Given the description of an element on the screen output the (x, y) to click on. 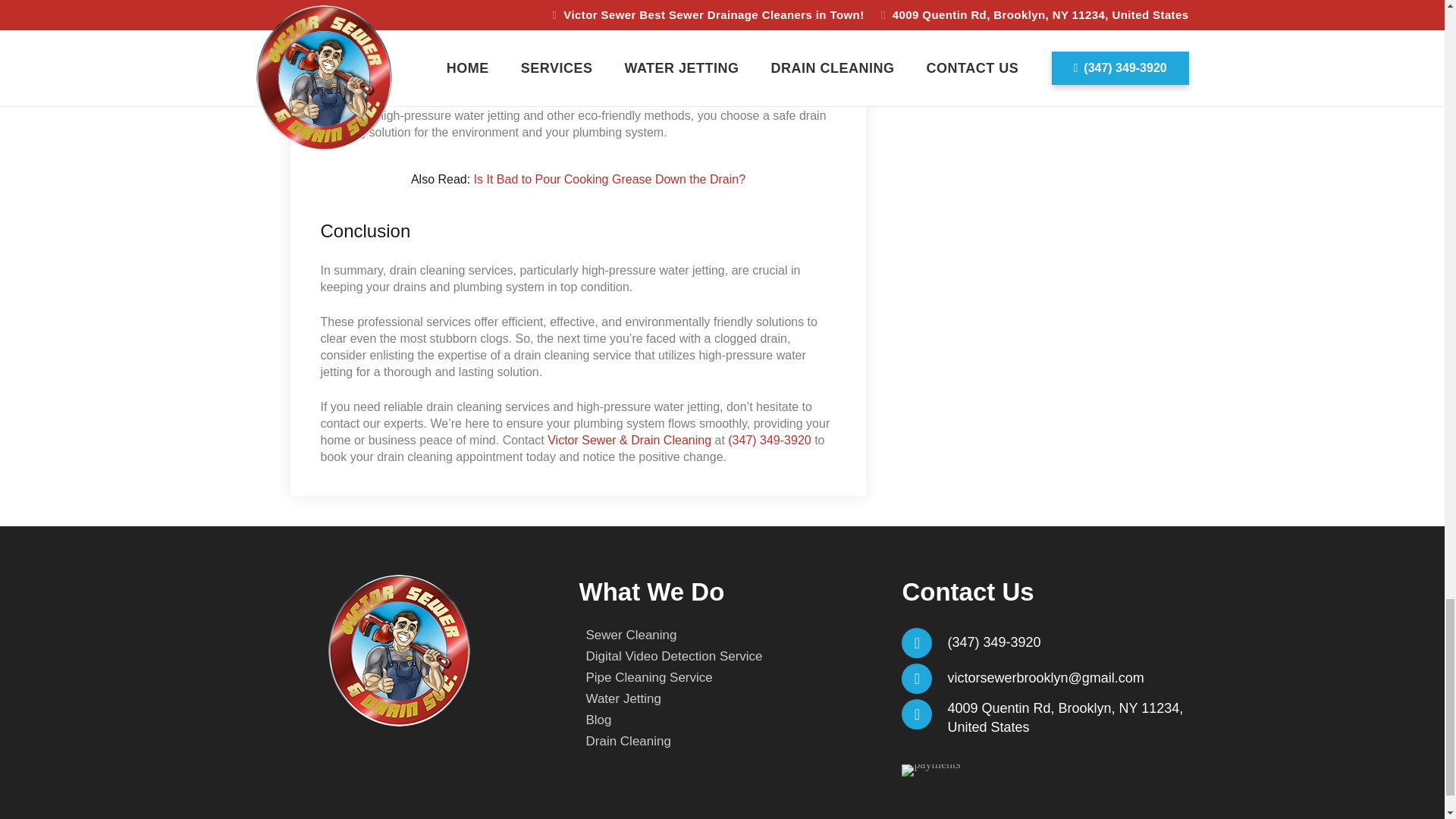
Is It Bad to Pour Cooking Grease Down the Drain? (609, 178)
Water Jetting (623, 698)
Pipe Cleaning Service (648, 677)
Sewer Cleaning (631, 635)
Digital Video Detection Service (673, 656)
Drain Cleaning (627, 740)
Blog (598, 719)
